Given the description of an element on the screen output the (x, y) to click on. 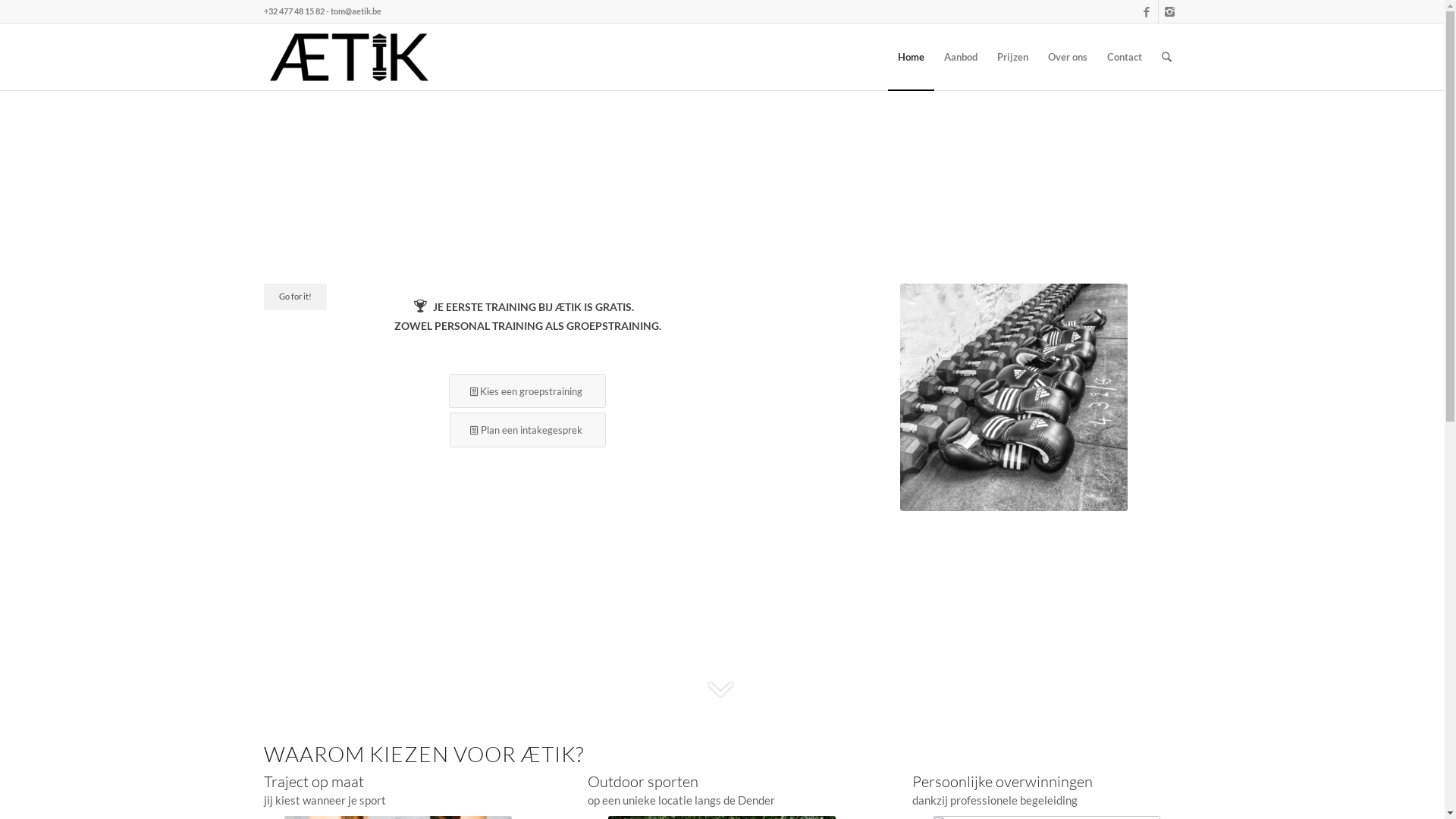
Contact Element type: text (1123, 56)
Instagram Element type: hover (1169, 11)
Plan een intakegesprek Element type: text (527, 429)
tom@aetik.be Element type: text (355, 10)
Kies een groepstraining Element type: text (526, 390)
Geen bokstrainingen Element type: hover (1013, 397)
+32 477 48 15 82 Element type: text (293, 10)
Facebook Element type: hover (1146, 11)
Home Element type: text (910, 56)
Over ons Element type: text (1066, 56)
Prijzen Element type: text (1012, 56)
Aanbod Element type: text (960, 56)
